Given the description of an element on the screen output the (x, y) to click on. 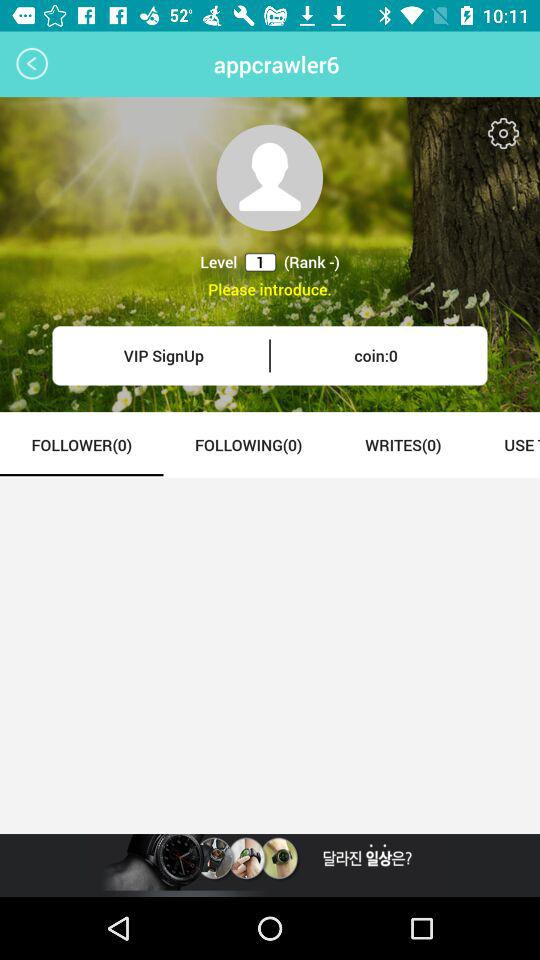
jump to vip signup (163, 355)
